Given the description of an element on the screen output the (x, y) to click on. 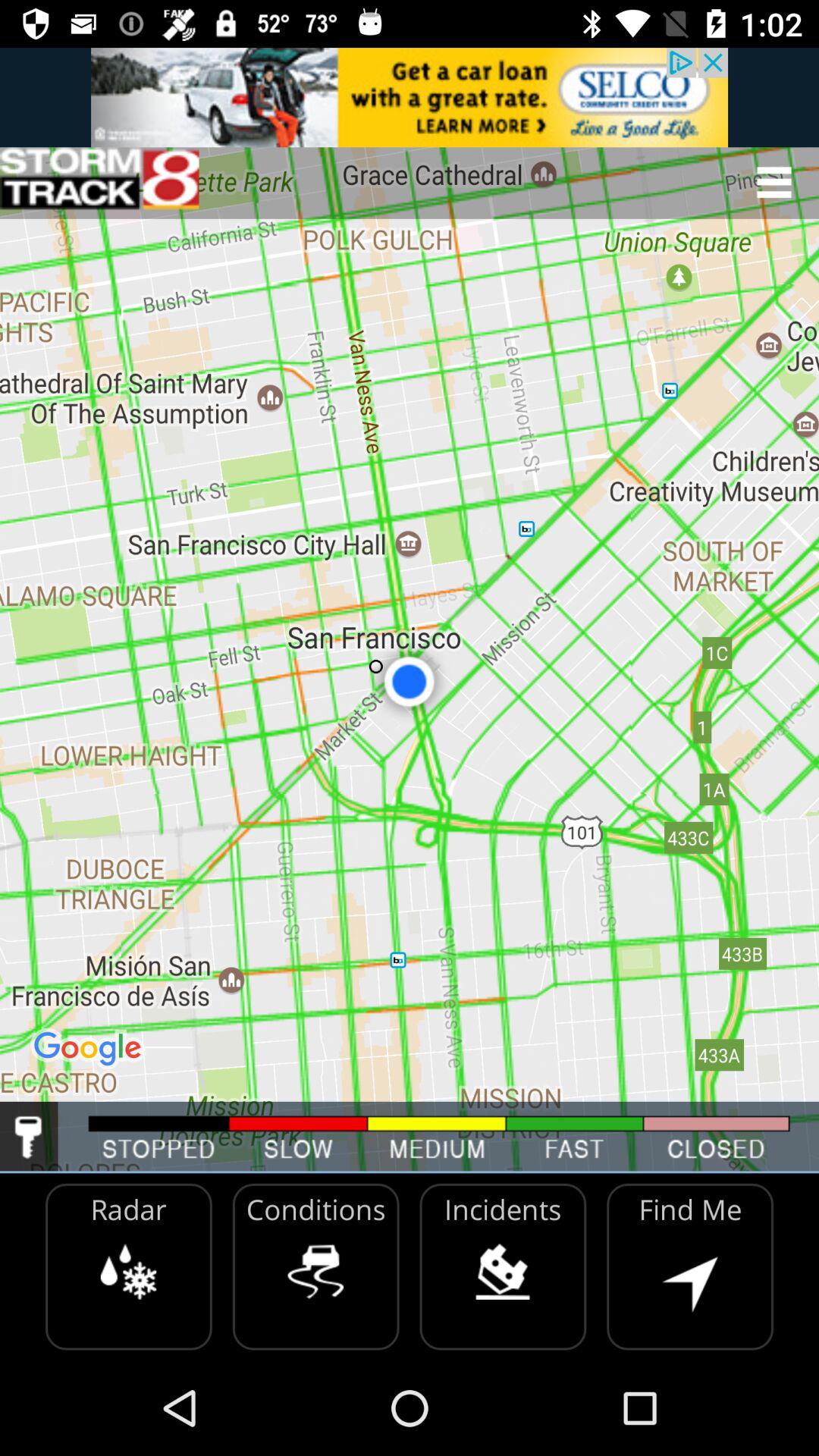
click item at the top left corner (99, 182)
